Given the description of an element on the screen output the (x, y) to click on. 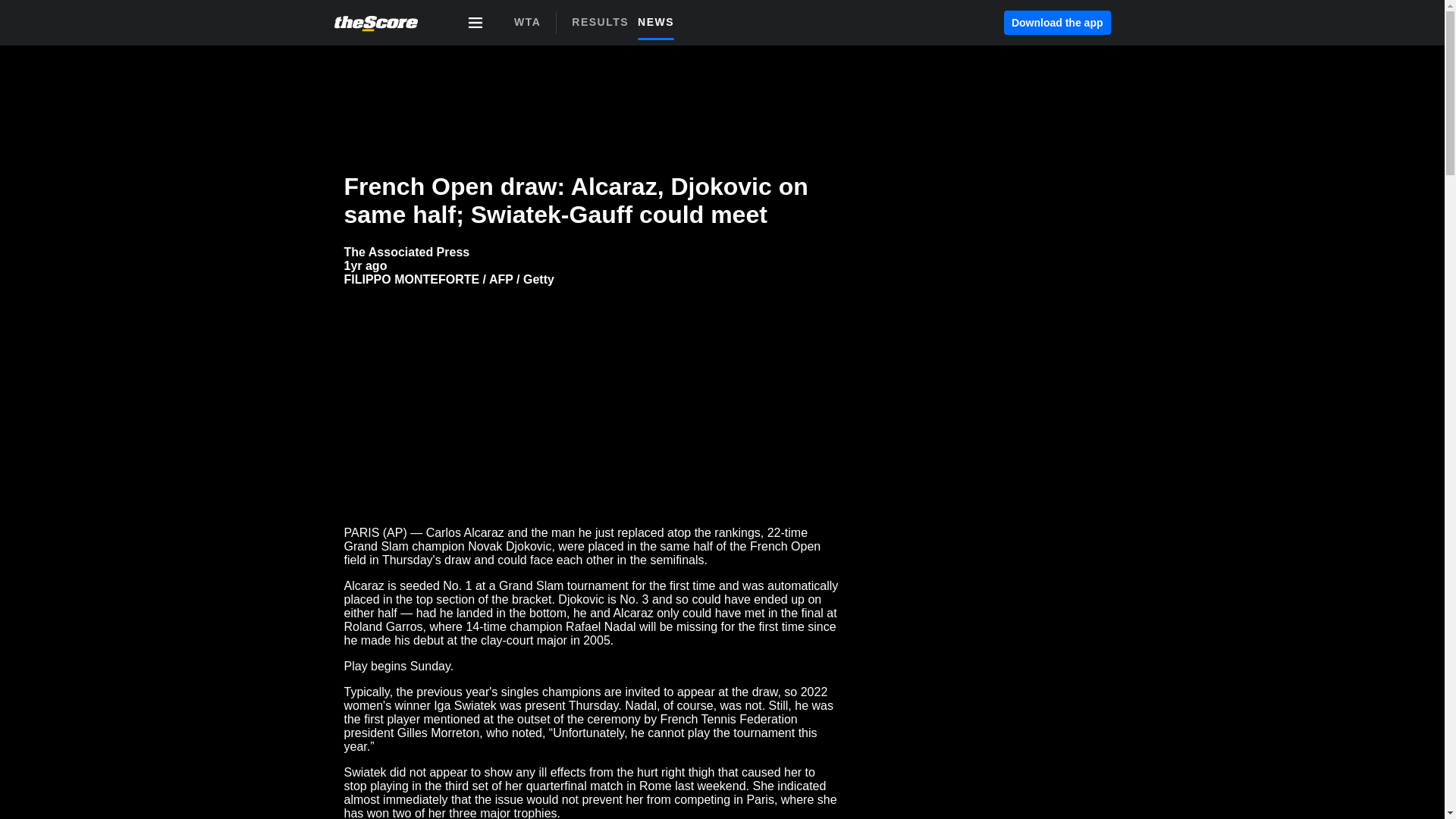
2023-05-25T13:38:08.000Z (365, 265)
RESULTS (627, 26)
Download the app (604, 21)
NEWS (1057, 22)
WTA (659, 21)
